Given the description of an element on the screen output the (x, y) to click on. 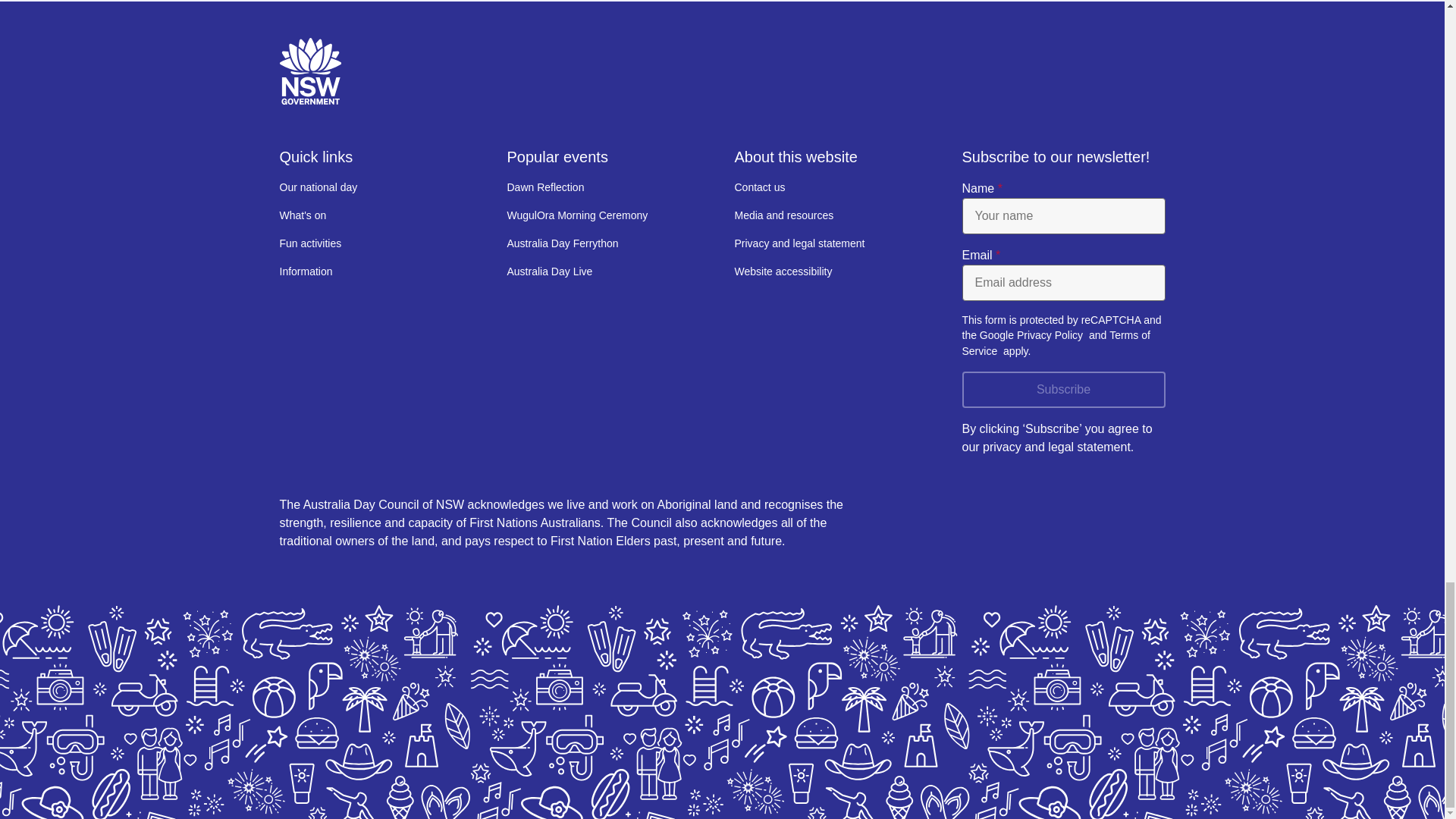
Email (1062, 282)
Name (1062, 216)
